Given the description of an element on the screen output the (x, y) to click on. 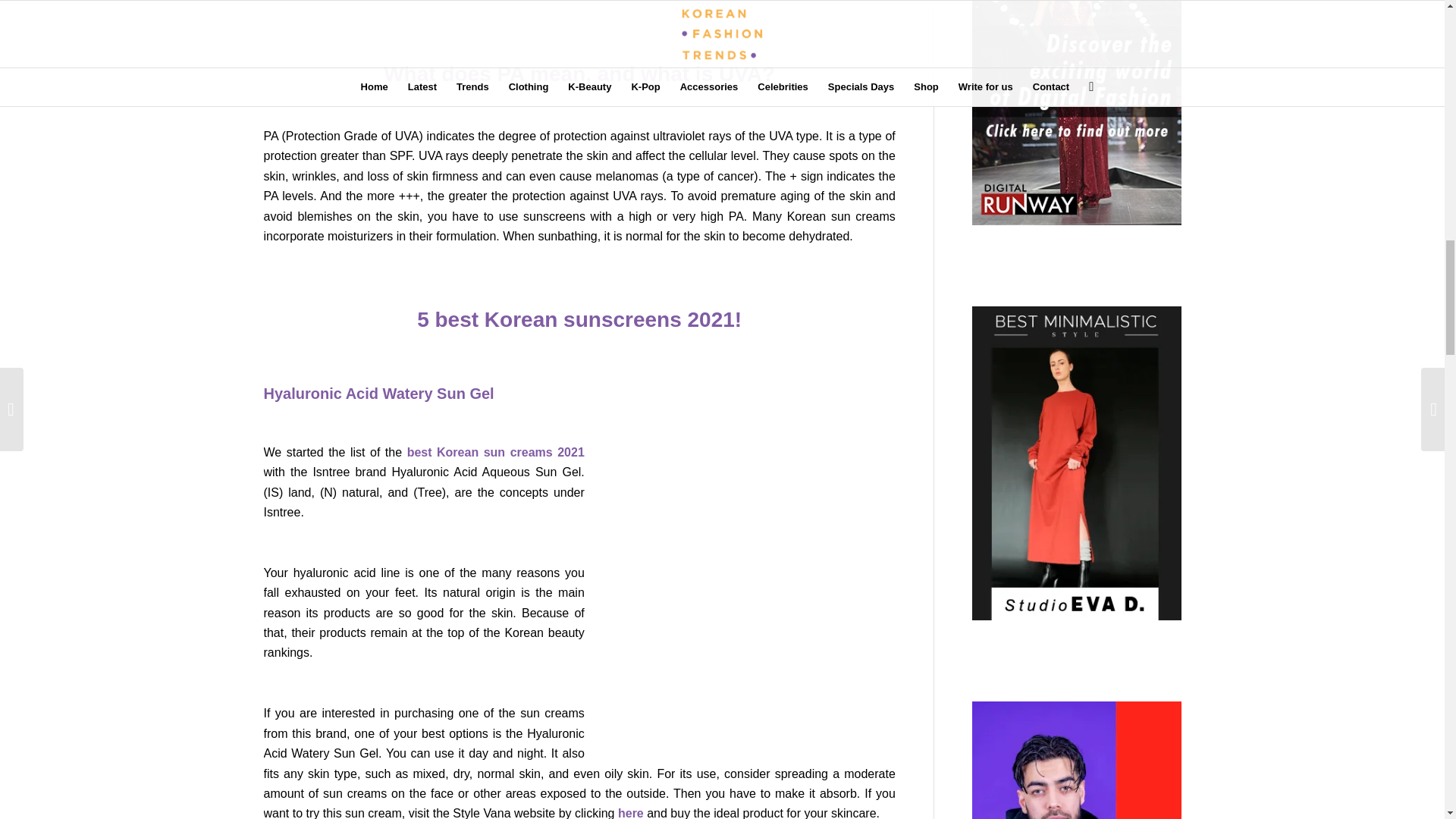
Isntree - Hyaluronic Acid Watery Sun Gel - 50ml (630, 812)
